Given the description of an element on the screen output the (x, y) to click on. 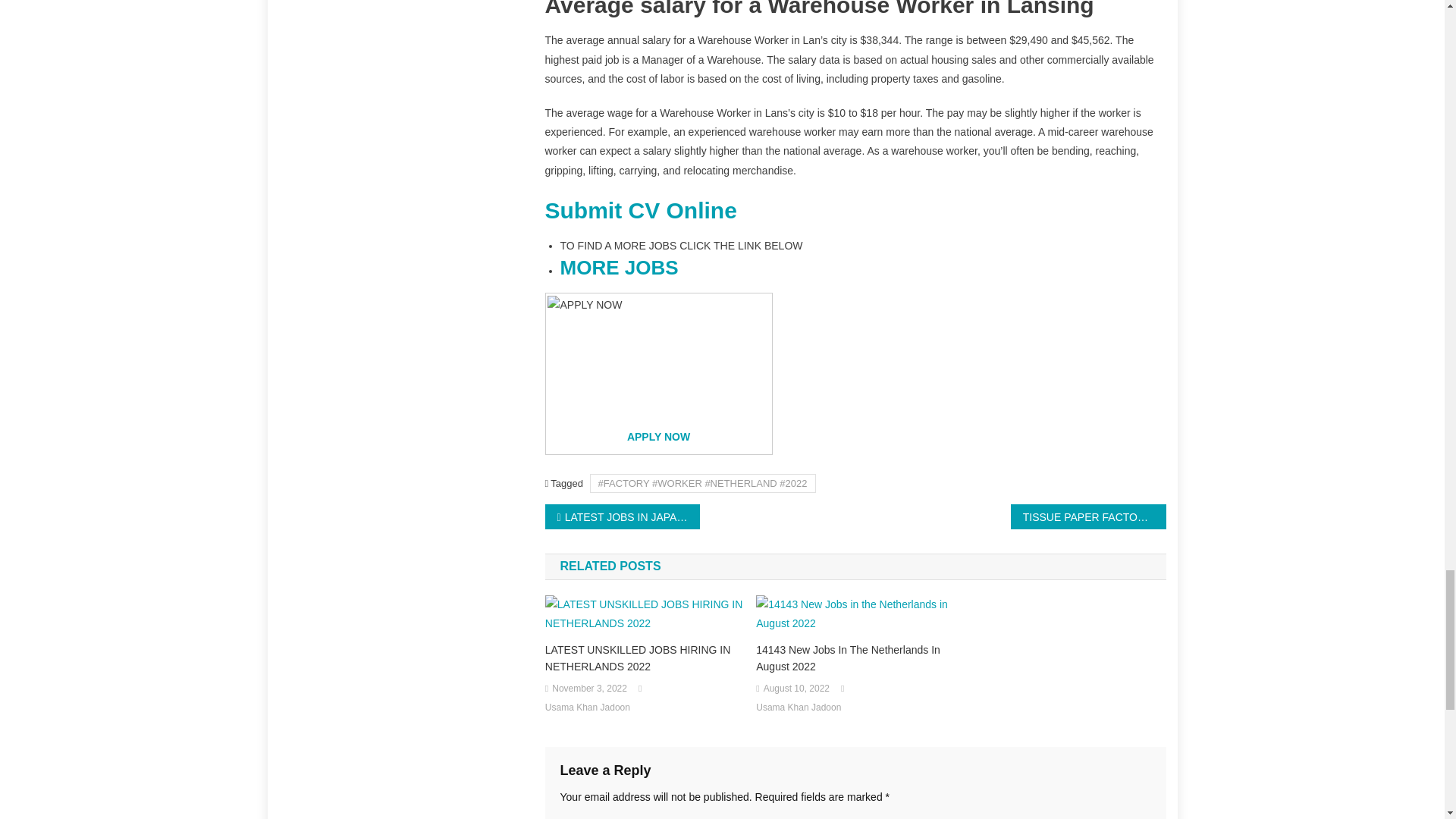
LATEST JOBS IN JAPAN 2022 (622, 516)
Submit CV Online (640, 210)
MORE JOBS (618, 267)
APPLY NOW (658, 436)
